Given the description of an element on the screen output the (x, y) to click on. 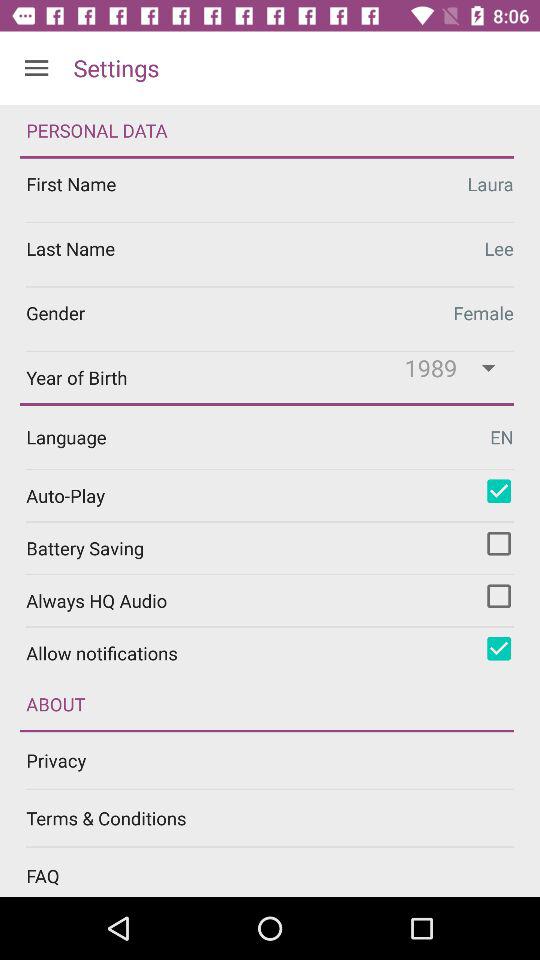
check the always hq audio option on (499, 596)
